Given the description of an element on the screen output the (x, y) to click on. 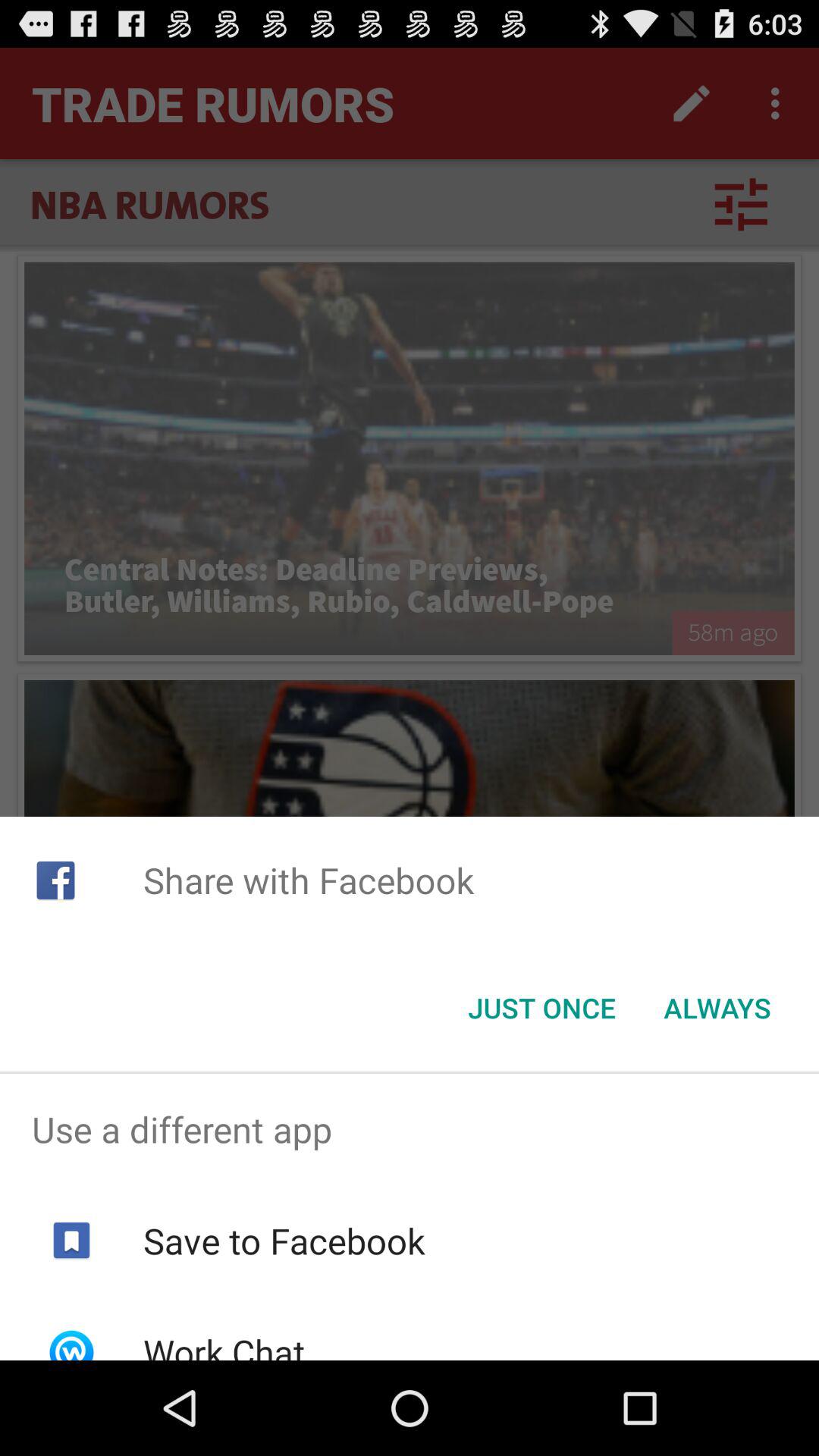
turn off the button next to the always item (541, 1007)
